Given the description of an element on the screen output the (x, y) to click on. 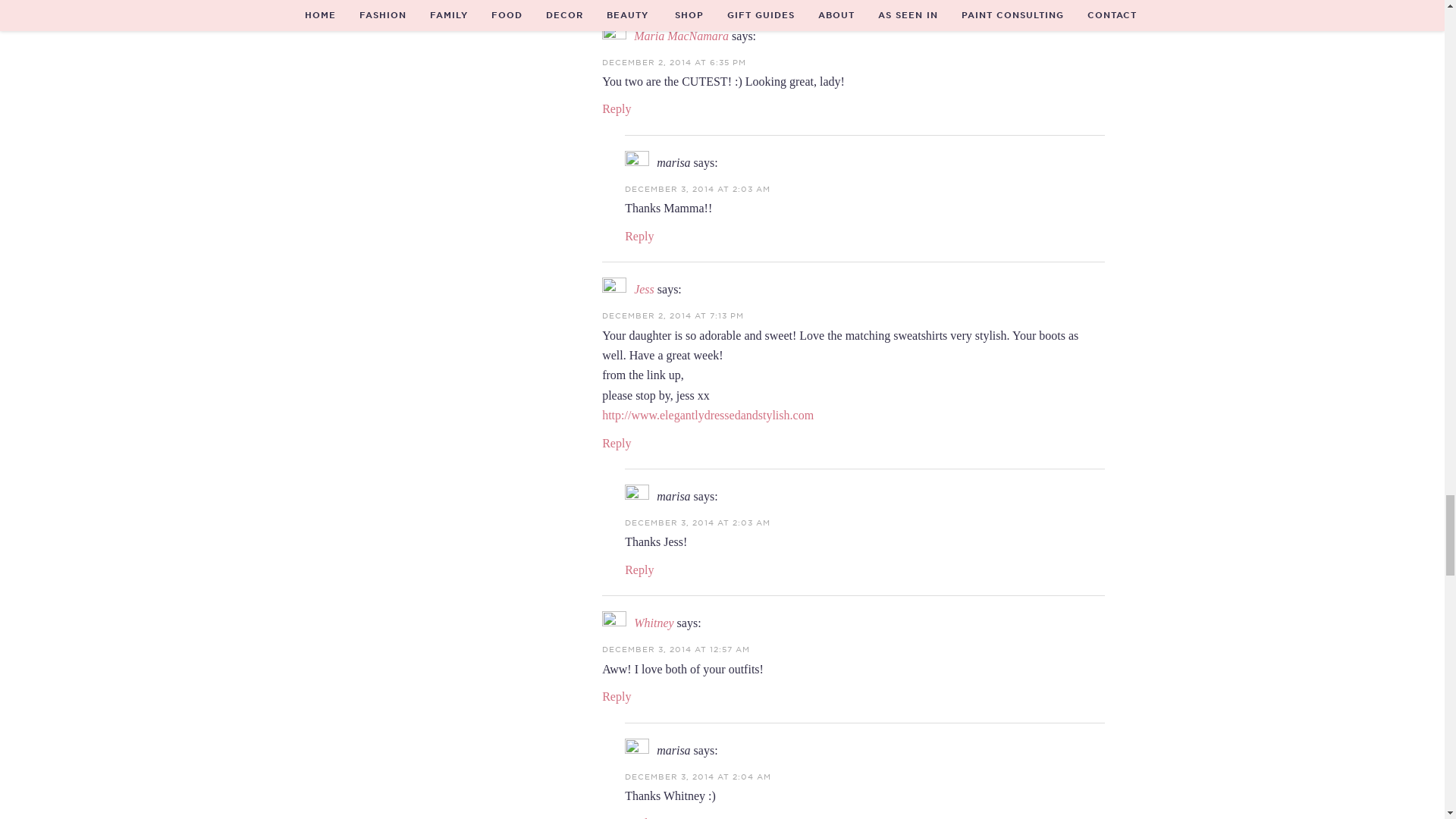
DECEMBER 3, 2014 AT 2:03 AM (697, 188)
Reply (616, 108)
DECEMBER 2, 2014 AT 6:35 PM (673, 61)
Maria MacNamara (681, 35)
